Given the description of an element on the screen output the (x, y) to click on. 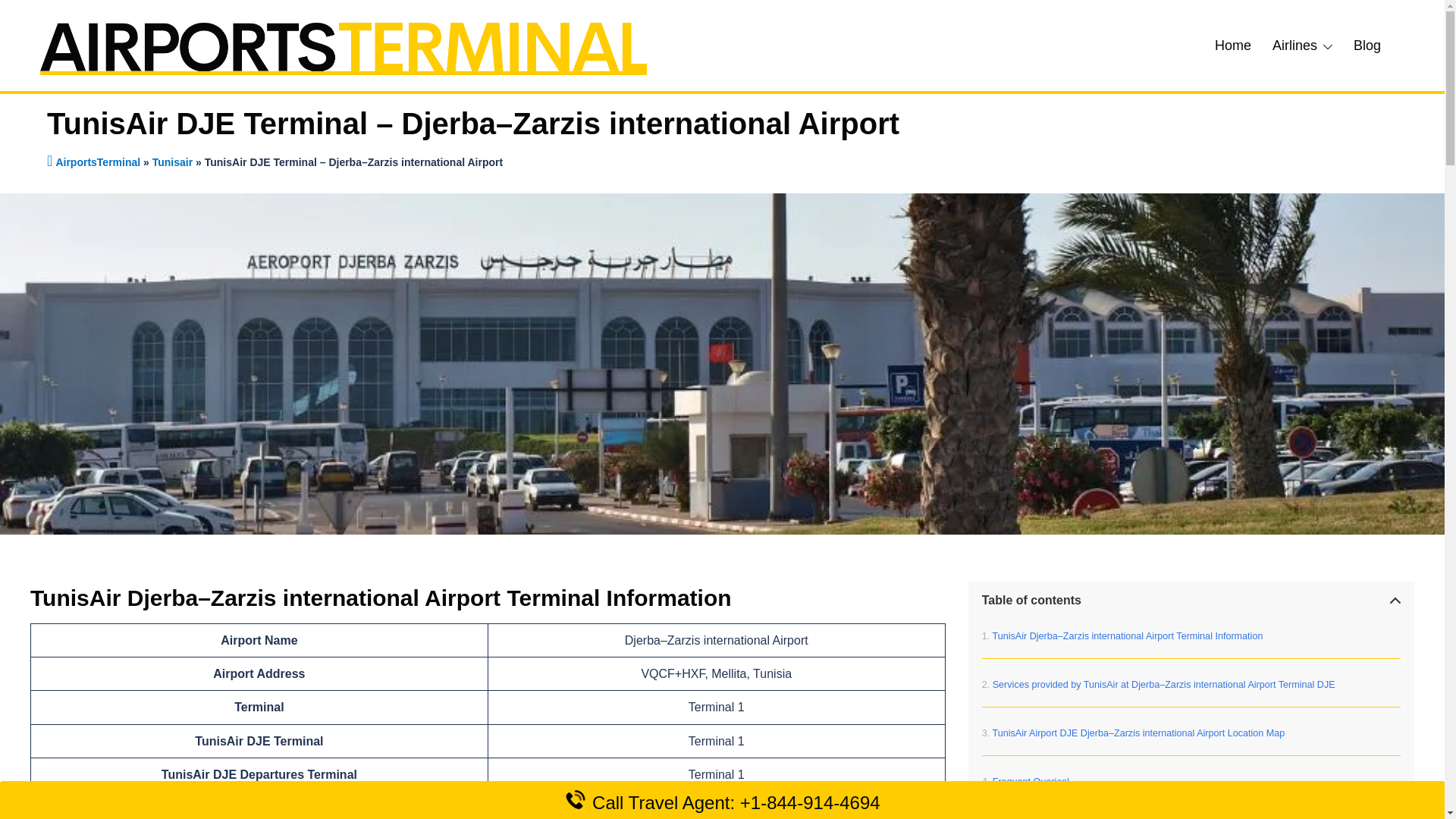
Blog (1367, 45)
Airlines (1294, 45)
airportsterminal.com (343, 43)
Home (1232, 45)
